Given the description of an element on the screen output the (x, y) to click on. 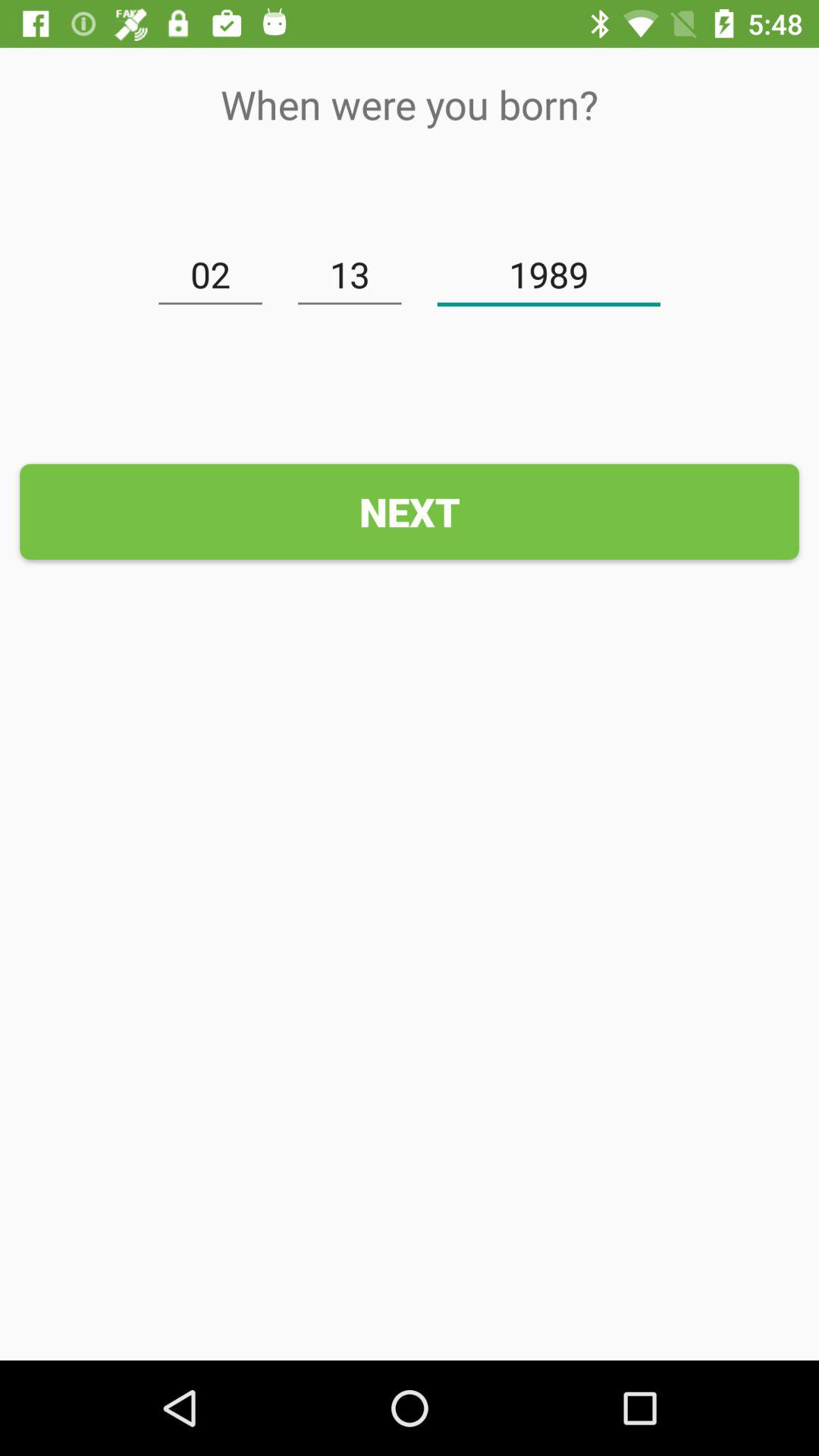
turn on item next to 13 item (548, 275)
